Given the description of an element on the screen output the (x, y) to click on. 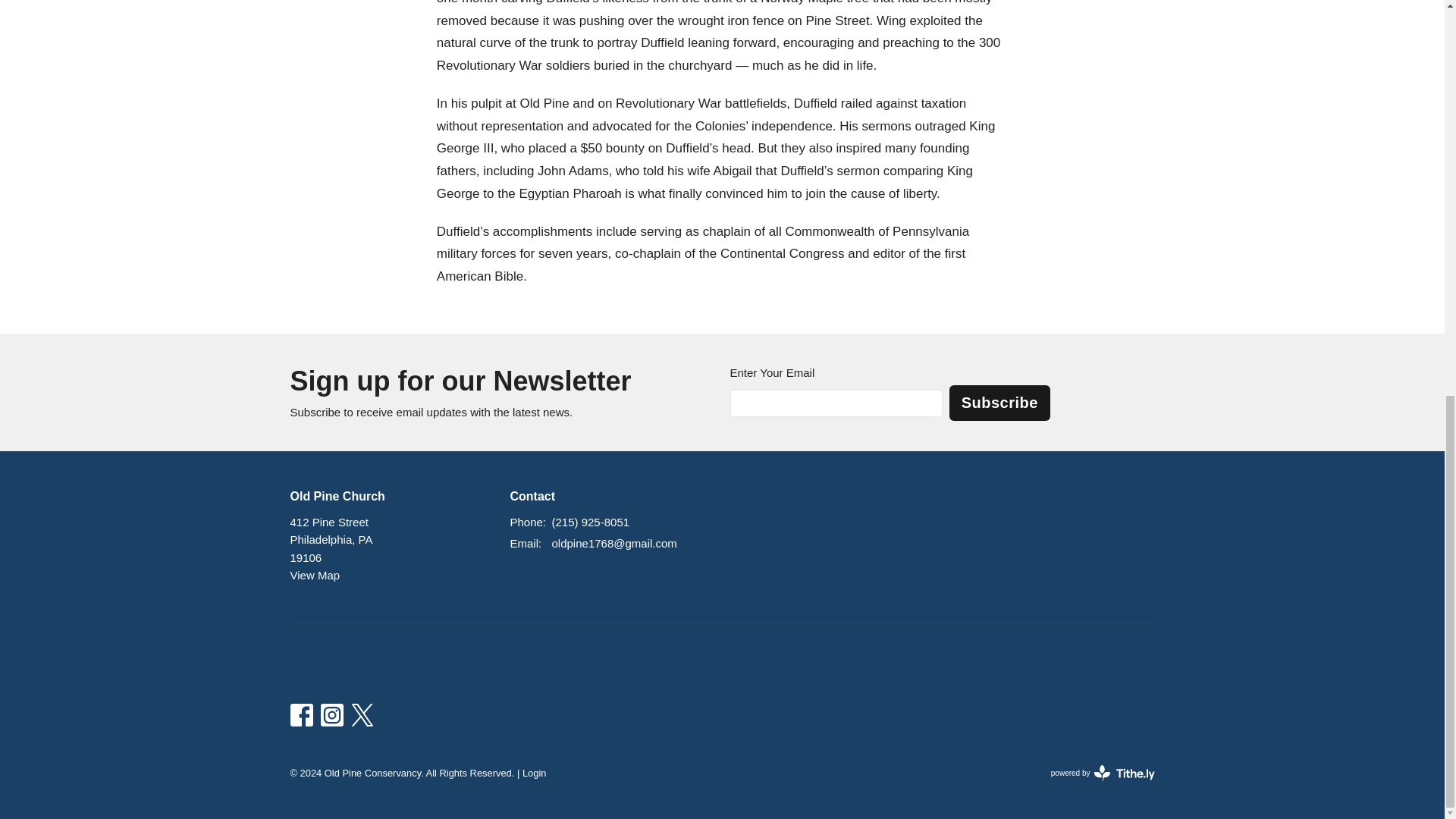
translation missing: en.ui.email (523, 543)
Login (1102, 772)
Subscribe (534, 772)
View Map (999, 402)
